Given the description of an element on the screen output the (x, y) to click on. 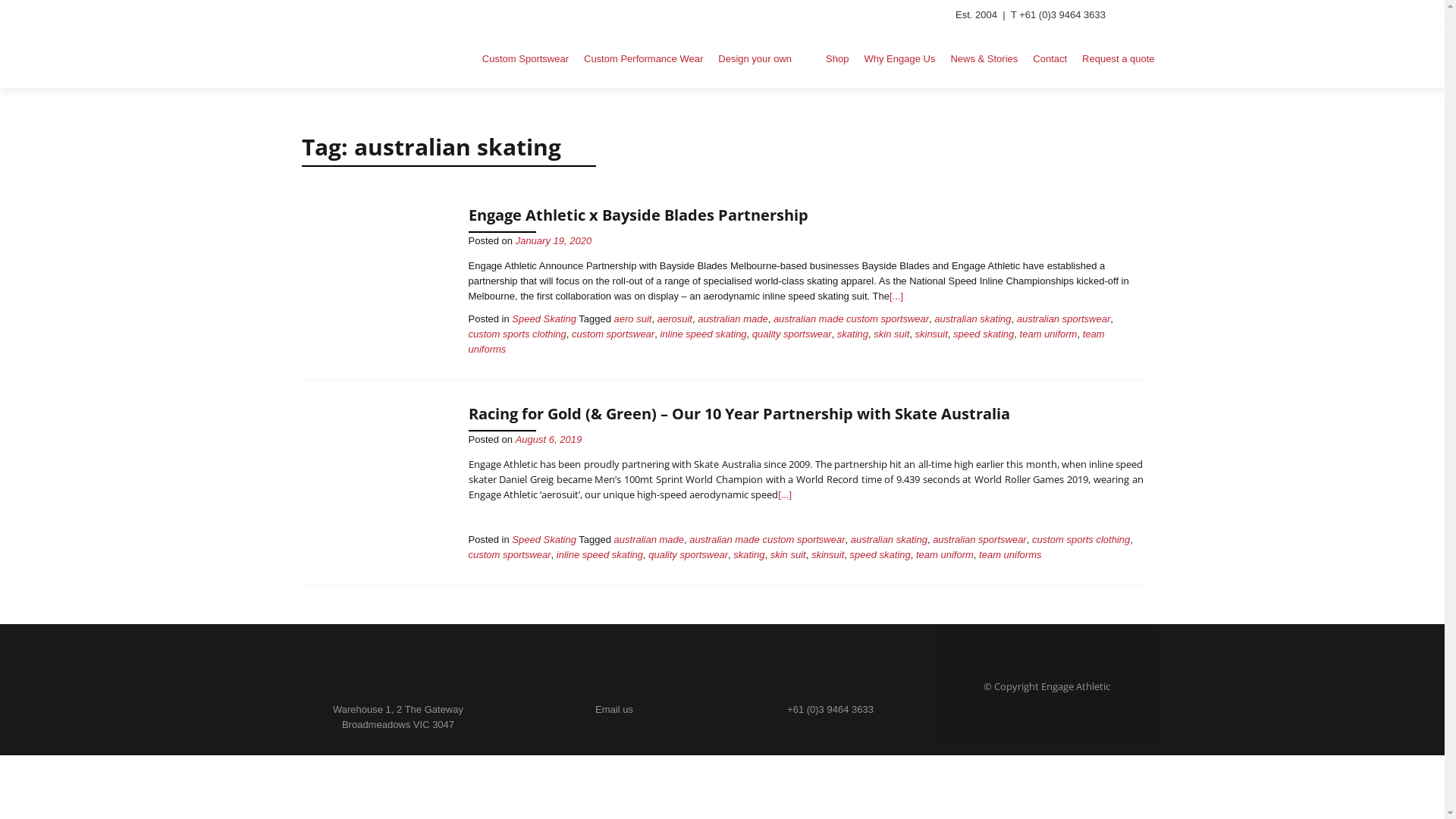
australian sportswear Element type: text (1063, 317)
australian skating Element type: text (888, 539)
Custom Performance Wear Element type: text (642, 58)
quality sportswear Element type: text (791, 332)
Design your own Element type: text (754, 58)
team uniforms Element type: text (786, 340)
Speed Skating Element type: text (543, 539)
August 6, 2019 Element type: text (548, 439)
Shop Element type: text (827, 58)
inline speed skating Element type: text (702, 332)
January 19, 2020 Element type: text (553, 240)
News & Stories Element type: text (983, 58)
custom sports clothing Element type: text (517, 332)
australian made Element type: text (732, 317)
+61 (0)3 9464 3633 Element type: text (830, 709)
inline speed skating Element type: text (599, 554)
australian skating Element type: text (972, 317)
team uniform Element type: text (1048, 332)
skinsuit Element type: text (827, 554)
australian sportswear Element type: text (979, 539)
aerosuit Element type: text (674, 317)
aero suit Element type: text (633, 317)
australian made Element type: text (649, 539)
skin suit Element type: text (788, 554)
Email us Element type: text (614, 709)
speed skating Element type: text (983, 332)
Engage Athletic x Bayside Blades Partnership Element type: text (638, 214)
speed skating Element type: text (880, 554)
Engage Athletic x Bayside Blades Partnership Element type: hover (377, 279)
Contact Element type: text (1049, 58)
Request a quote Element type: text (1118, 58)
skinsuit Element type: text (930, 332)
skating Element type: text (748, 554)
custom sports clothing Element type: text (1080, 539)
Custom Sportswear Element type: text (525, 58)
team uniforms Element type: text (1010, 554)
australian made custom sportswear Element type: text (766, 539)
team uniform Element type: text (944, 554)
custom sportswear Element type: text (612, 332)
custom sportswear Element type: text (509, 554)
quality sportswear Element type: text (688, 554)
[...] Element type: text (896, 295)
Speed Skating Element type: text (543, 317)
skin suit Element type: text (891, 332)
skating Element type: text (852, 332)
Why Engage Us Element type: text (899, 58)
australian made custom sportswear Element type: text (850, 317)
